Given the description of an element on the screen output the (x, y) to click on. 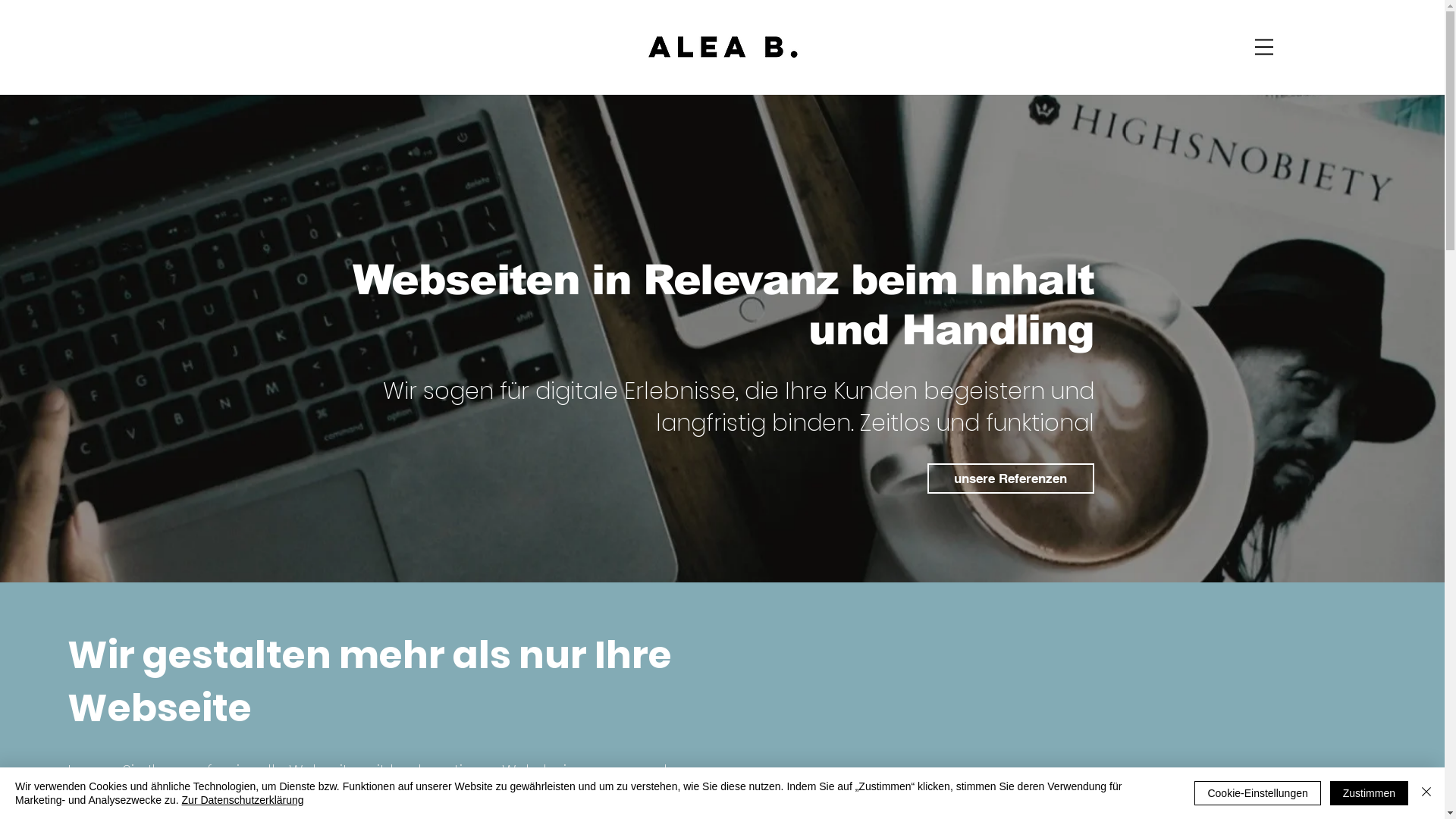
Cookie-Einstellungen Element type: text (1257, 793)
Zustimmen Element type: text (1369, 793)
unsere Referenzen Element type: text (1009, 478)
